Given the description of an element on the screen output the (x, y) to click on. 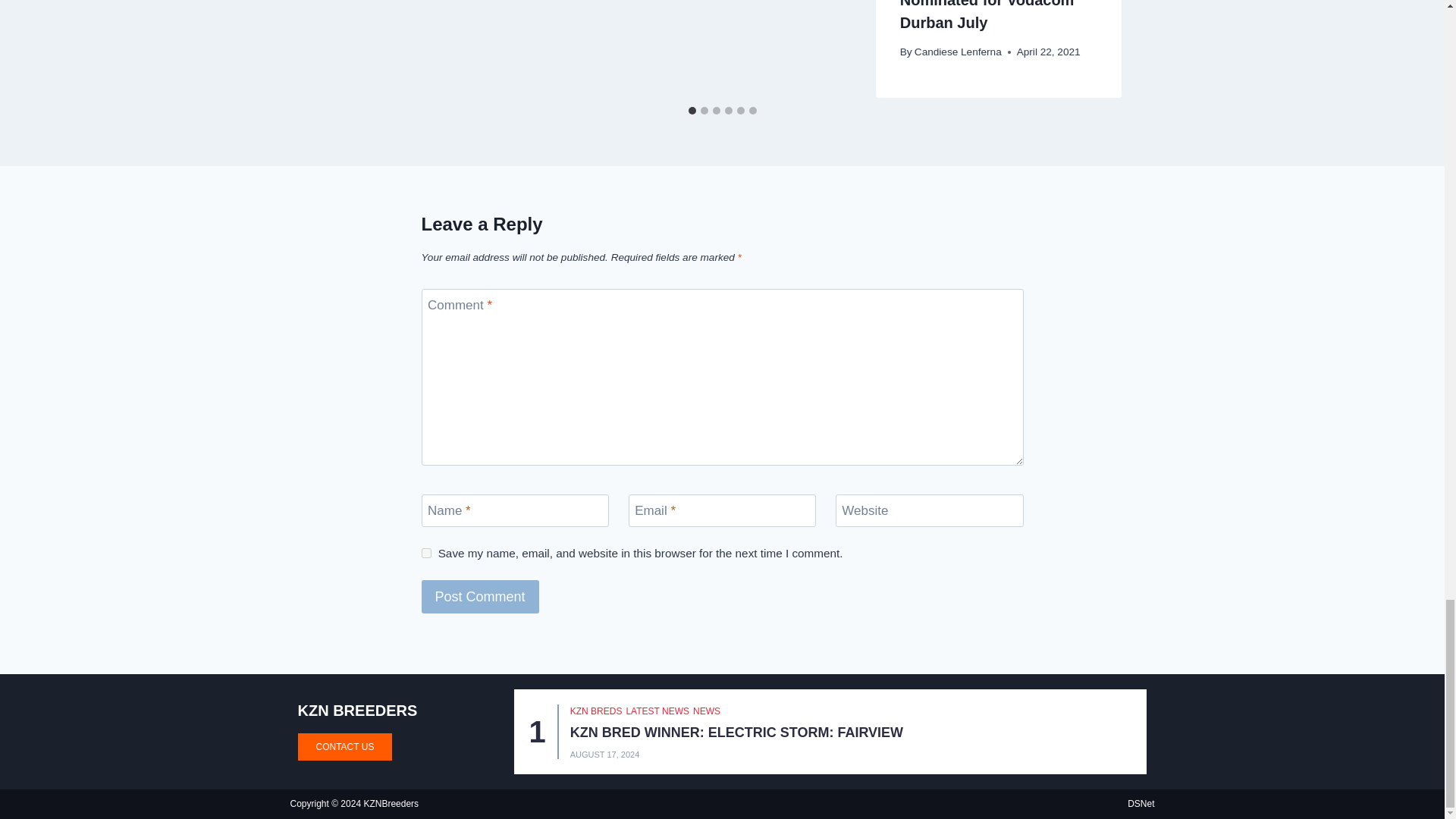
Post Comment (480, 595)
yes (426, 552)
KZN BRED WINNER: ELECTRIC STORM: FAIRVIEW (736, 732)
